Given the description of an element on the screen output the (x, y) to click on. 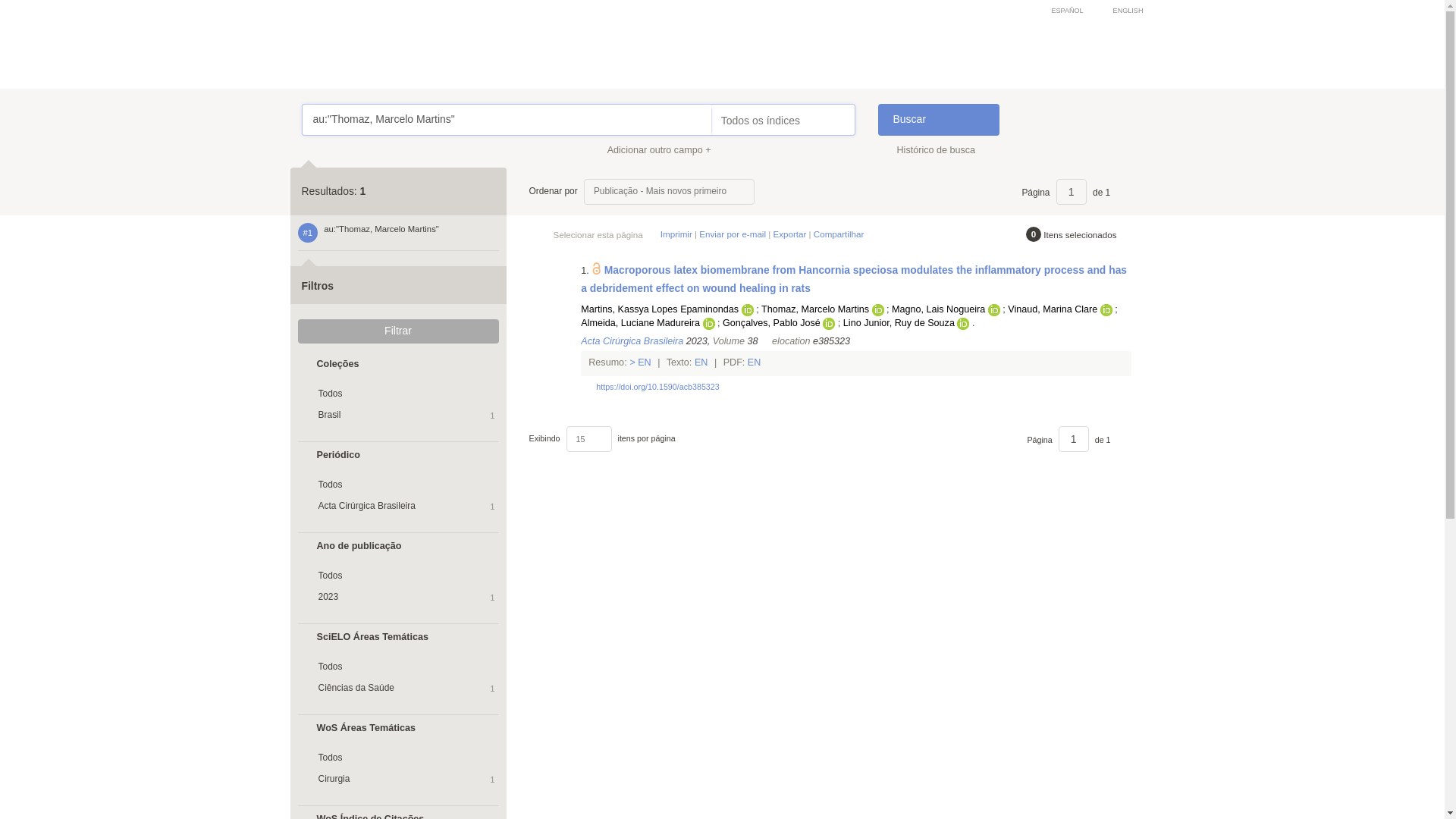
Buscar (937, 119)
Exportar (789, 234)
Precisa de ajuda? (348, 112)
1 (1071, 191)
Buscar (937, 119)
Buscar (937, 119)
 Twitter (864, 288)
ENGLISH (1119, 10)
Abrir menu (316, 11)
